Given the description of an element on the screen output the (x, y) to click on. 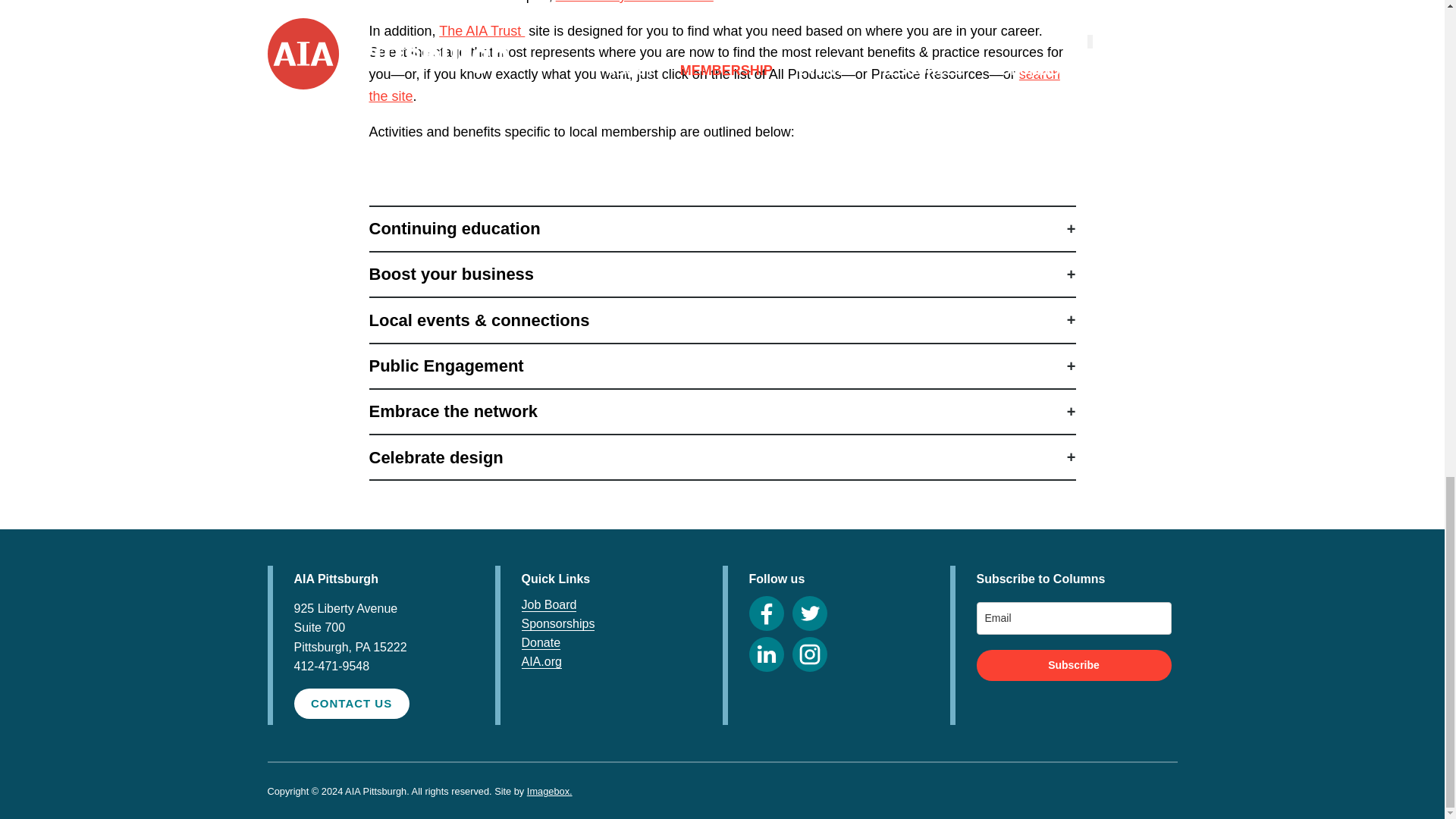
Pittsburgh Web Design (549, 790)
